Given the description of an element on the screen output the (x, y) to click on. 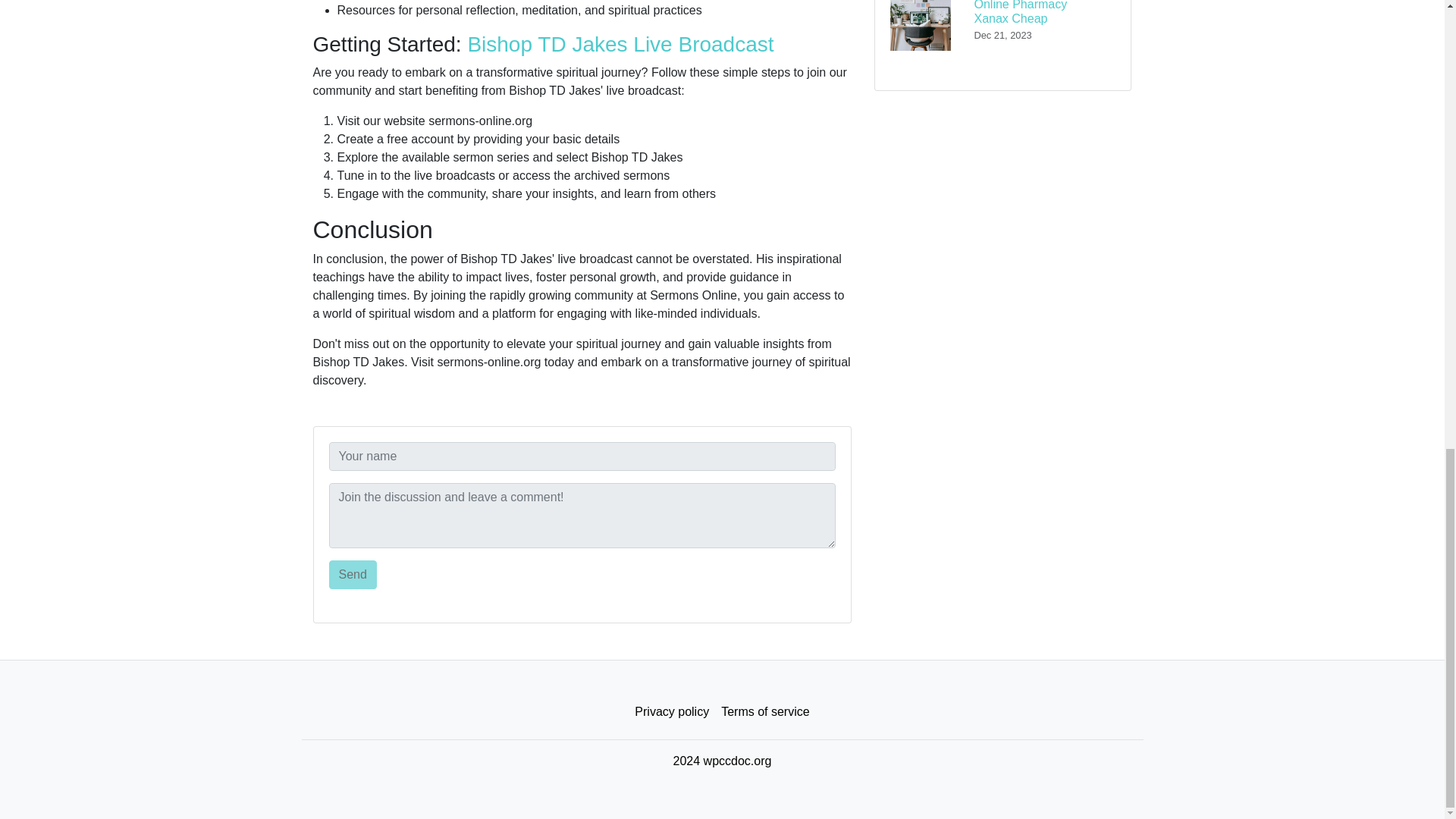
Bishop TD Jakes Live Broadcast (620, 44)
Privacy policy (671, 711)
Send (353, 574)
Send (353, 574)
Terms of service (764, 711)
